Given the description of an element on the screen output the (x, y) to click on. 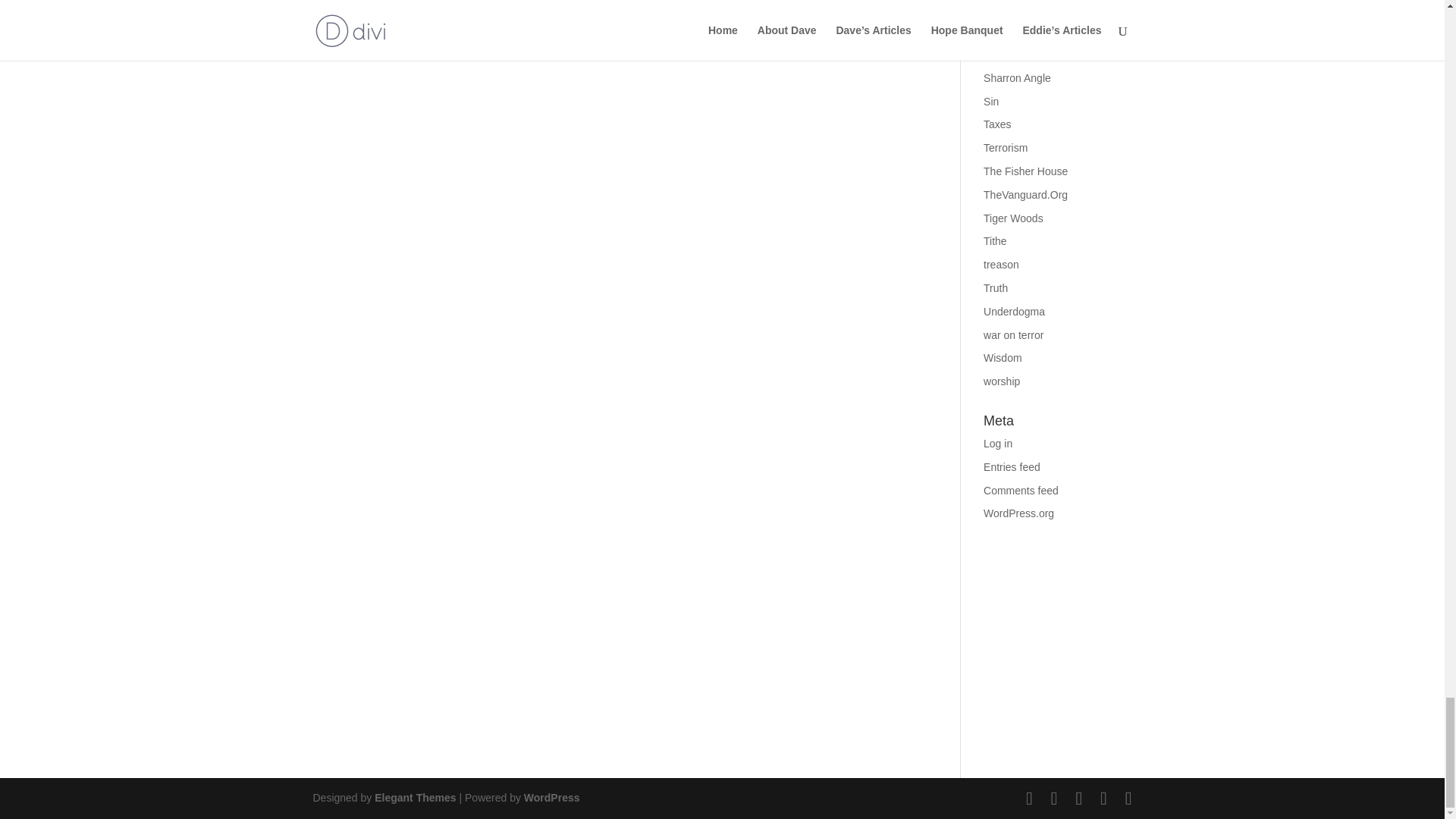
Premium WordPress Themes (414, 797)
